Given the description of an element on the screen output the (x, y) to click on. 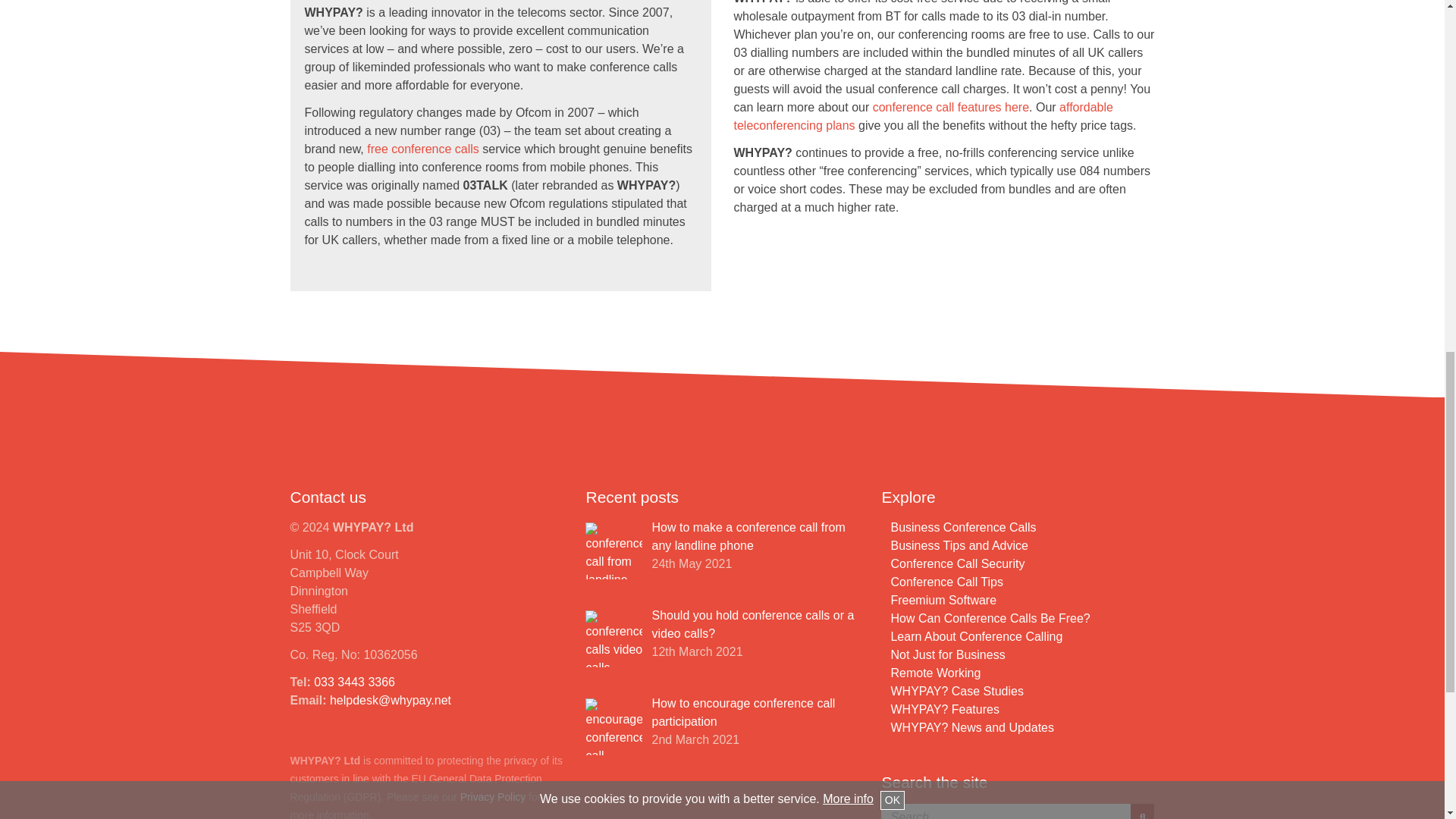
Learn About Conference Calling (975, 635)
Not Just for Business (946, 654)
Privacy Policy (492, 797)
Freemium Software (942, 599)
Should you hold conference calls or a video calls? (751, 624)
How Can Conference Calls Be Free? (989, 617)
How to make a conference call from any landline phone (747, 536)
affordable teleconferencing plans (923, 115)
Business Tips and Advice (958, 545)
Search (1142, 811)
conference call features here (950, 106)
free conference calls (422, 148)
WHYPAY? Case Studies (956, 690)
Remote Working (934, 672)
WHYPAY? Features (943, 708)
